Given the description of an element on the screen output the (x, y) to click on. 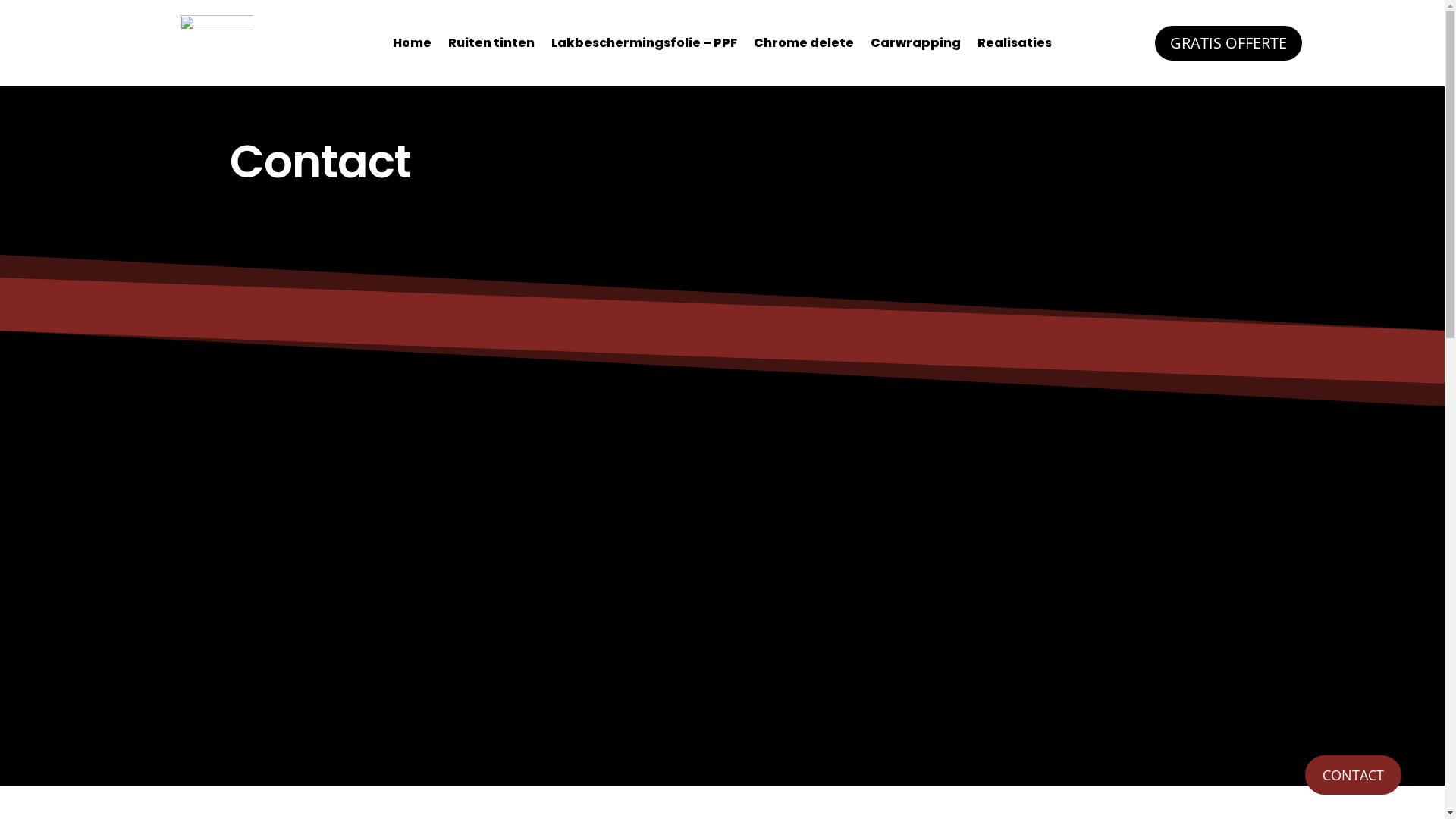
Chrome delete Element type: text (803, 45)
Carwrapping Element type: text (915, 45)
CONTACT Element type: text (1353, 774)
GRATIS OFFERTE Element type: text (1228, 42)
Ruiten tinten Element type: text (491, 45)
Realisaties Element type: text (1014, 45)
Home Element type: text (411, 45)
LOGO IN ROOD BETON Element type: hover (216, 43)
